Given the description of an element on the screen output the (x, y) to click on. 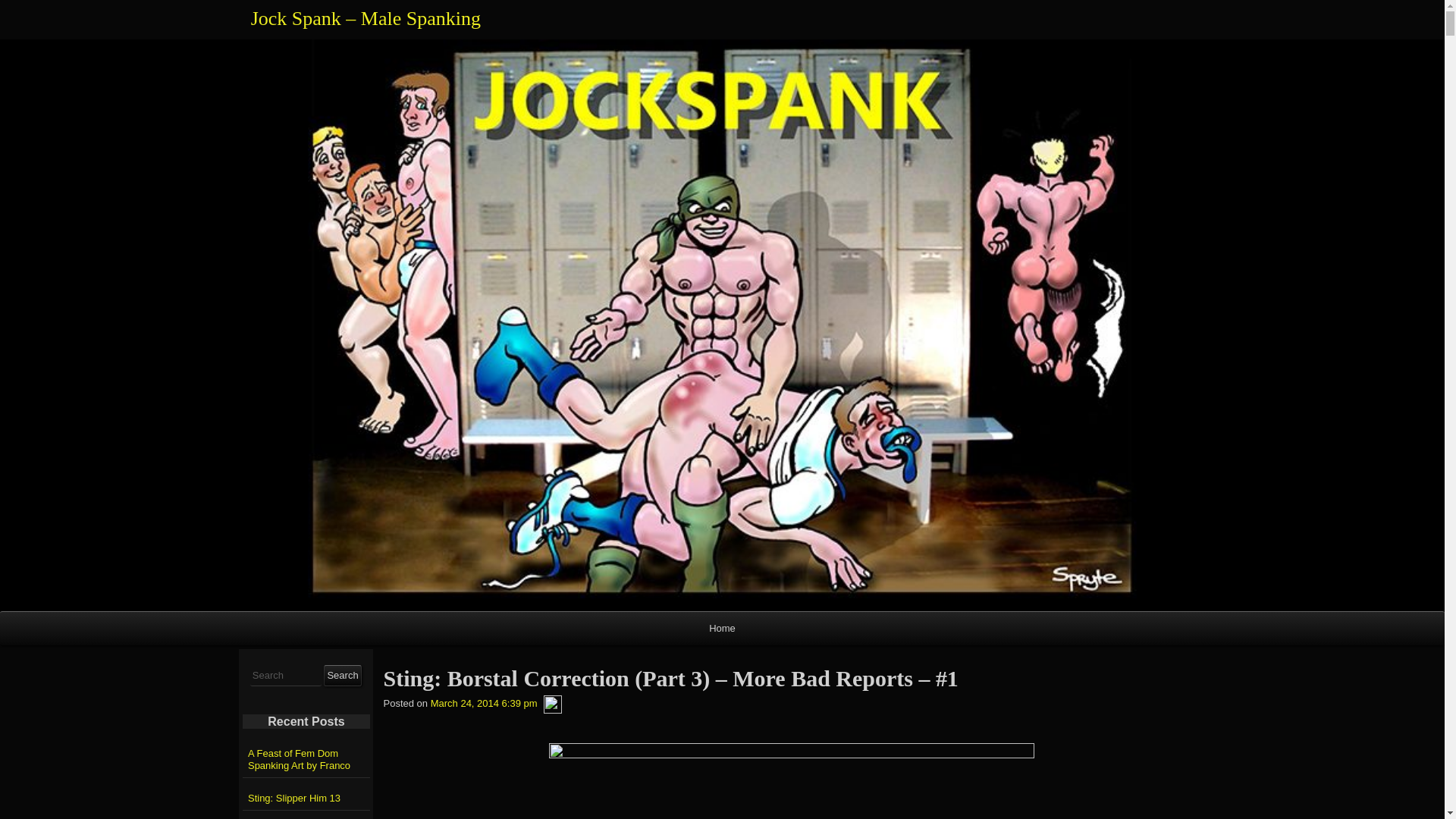
Search (342, 675)
View all posts by Ward (552, 704)
Ward (552, 704)
must not contain html tags (285, 675)
March 24, 2014 6:39 pm (483, 704)
Home (721, 628)
archives daily March 24, 2014 6:39 pm (483, 704)
